Given the description of an element on the screen output the (x, y) to click on. 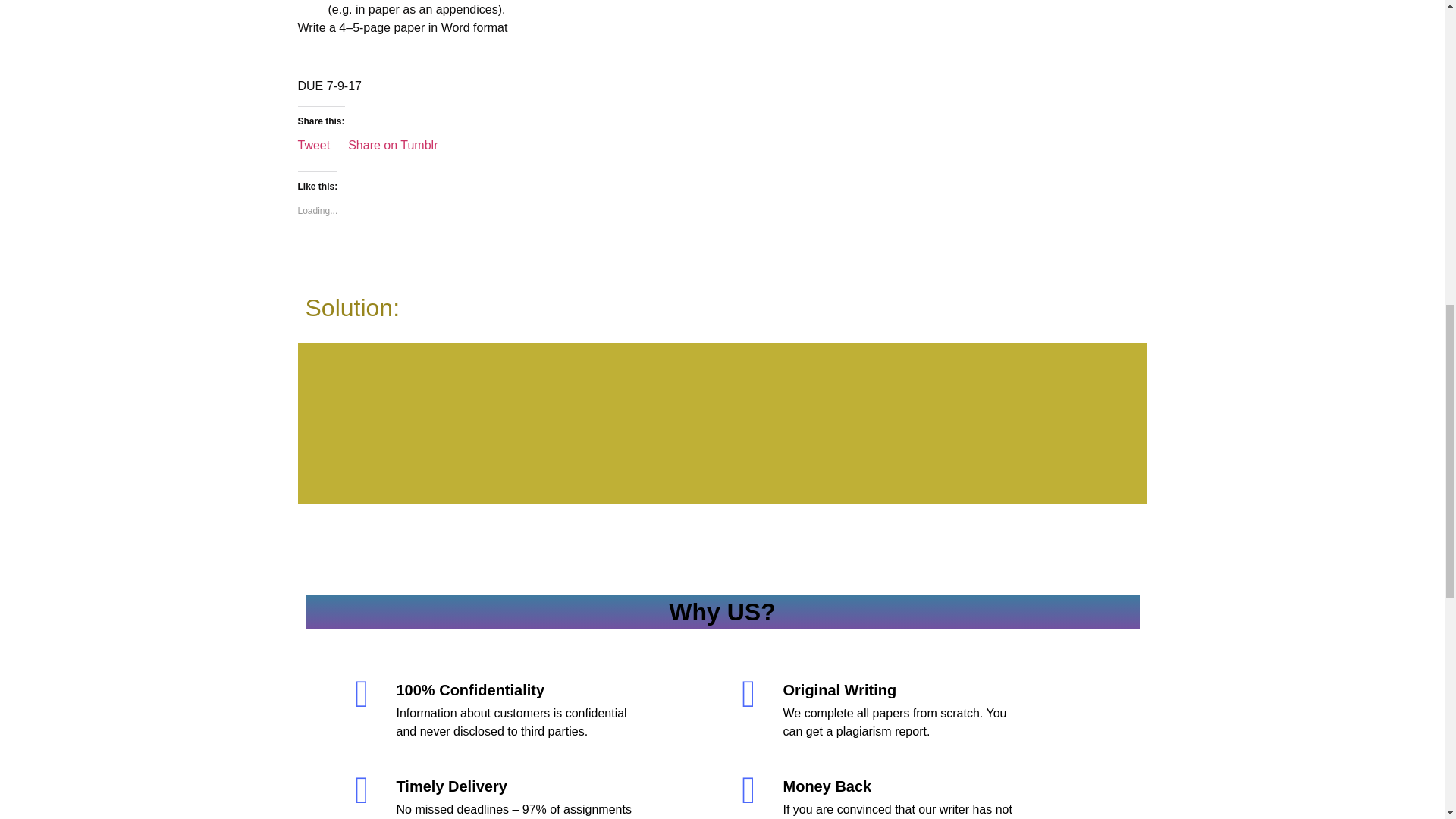
Tweet (313, 142)
Share on Tumblr (392, 142)
Share on Tumblr (392, 142)
